Given the description of an element on the screen output the (x, y) to click on. 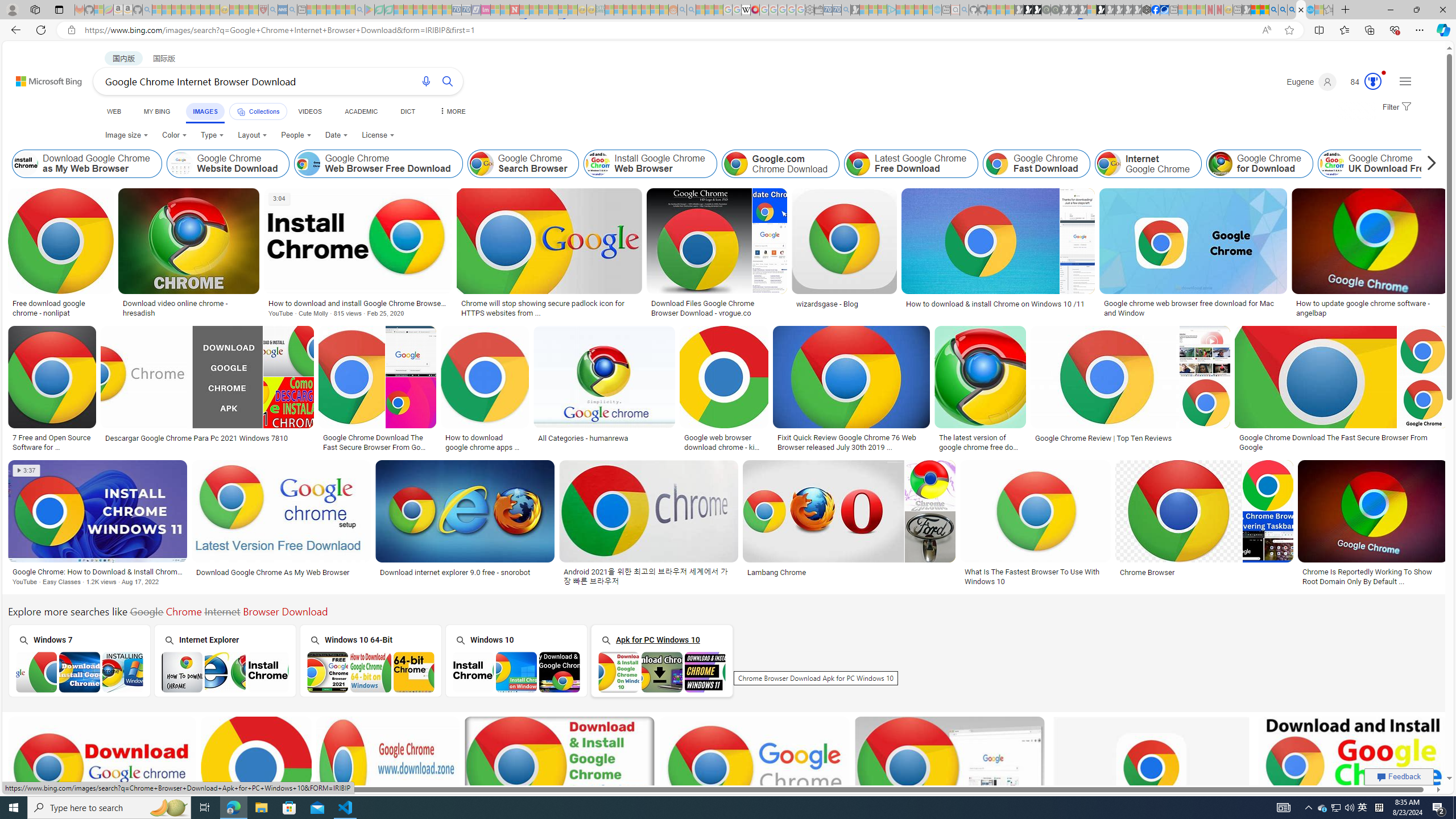
Install Google Chrome Web Browser (649, 163)
People (295, 135)
Download video online chrome - hresadish (188, 307)
DICT (407, 111)
Type (212, 135)
Color (173, 135)
Pets - MSN - Sleeping (340, 9)
Google Chrome Fast Download (1035, 163)
Image size (126, 135)
